Given the description of an element on the screen output the (x, y) to click on. 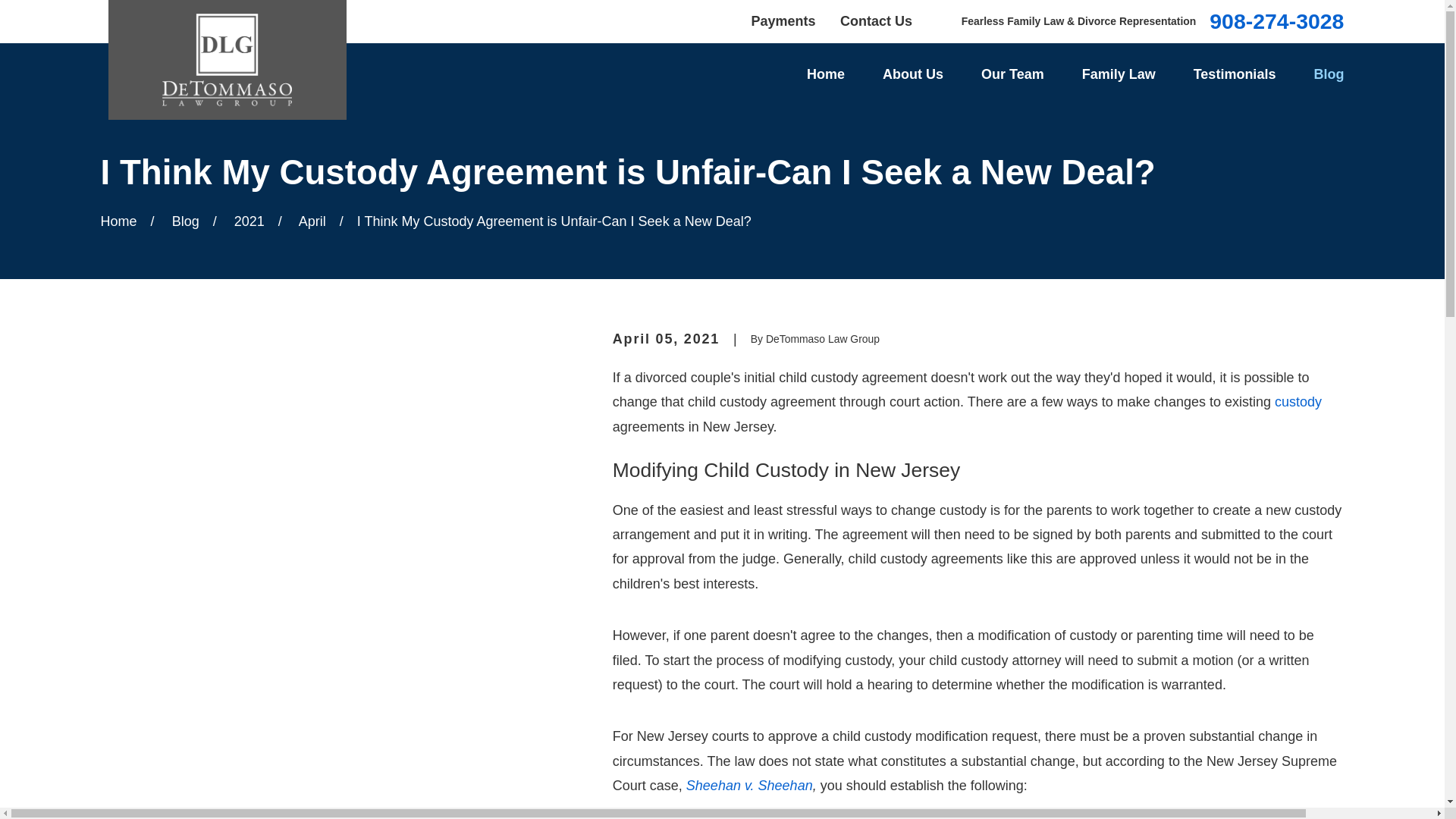
Our Team (1012, 74)
Contact Us (876, 20)
908-274-3028 (1276, 20)
Home (226, 59)
Family Law (1118, 74)
Payments (783, 20)
Home (825, 74)
Testimonials (1234, 74)
About Us (912, 74)
Blog (1328, 74)
Go Home (118, 221)
